Given the description of an element on the screen output the (x, y) to click on. 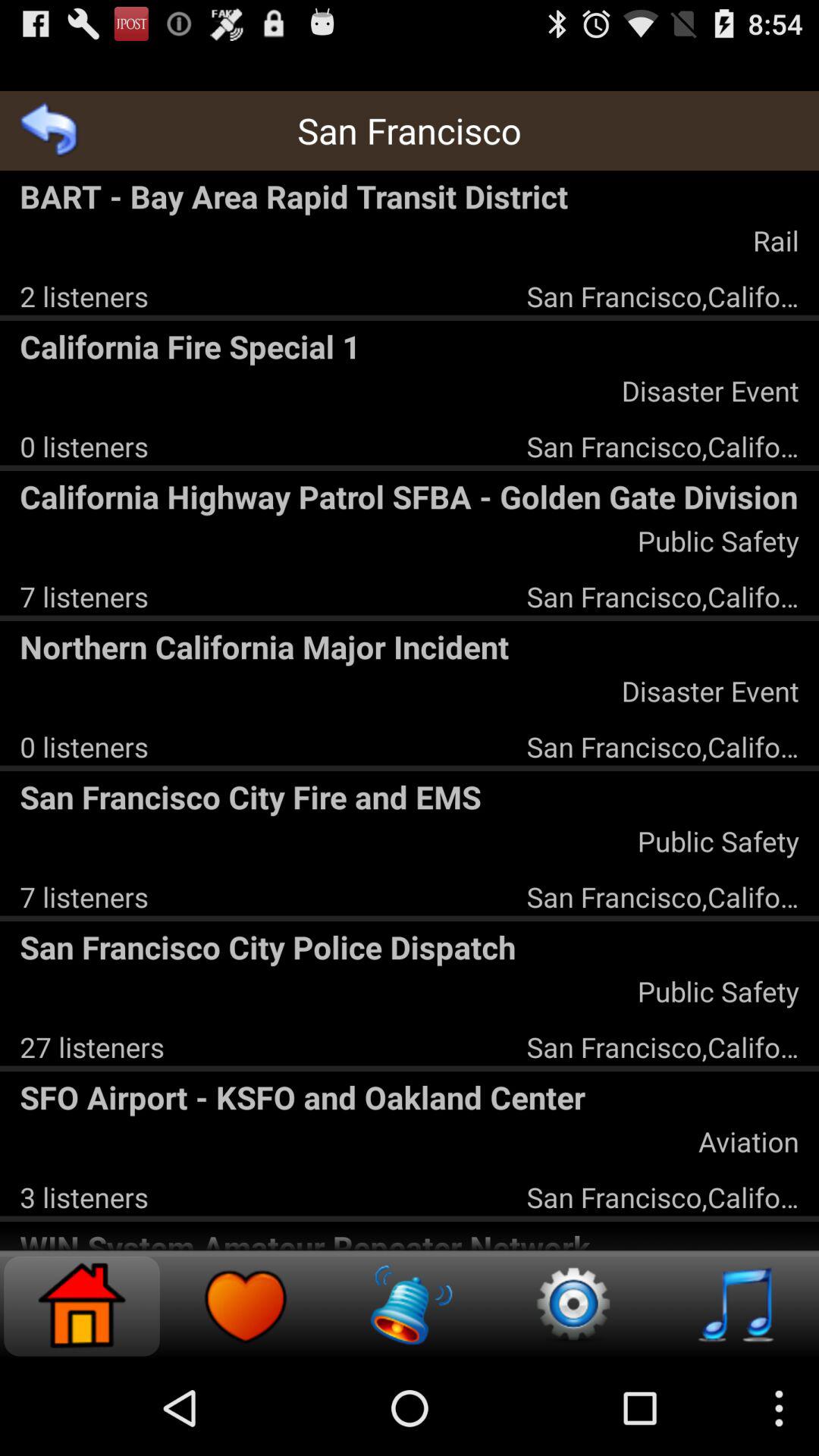
click win system amateur icon (409, 1237)
